Given the description of an element on the screen output the (x, y) to click on. 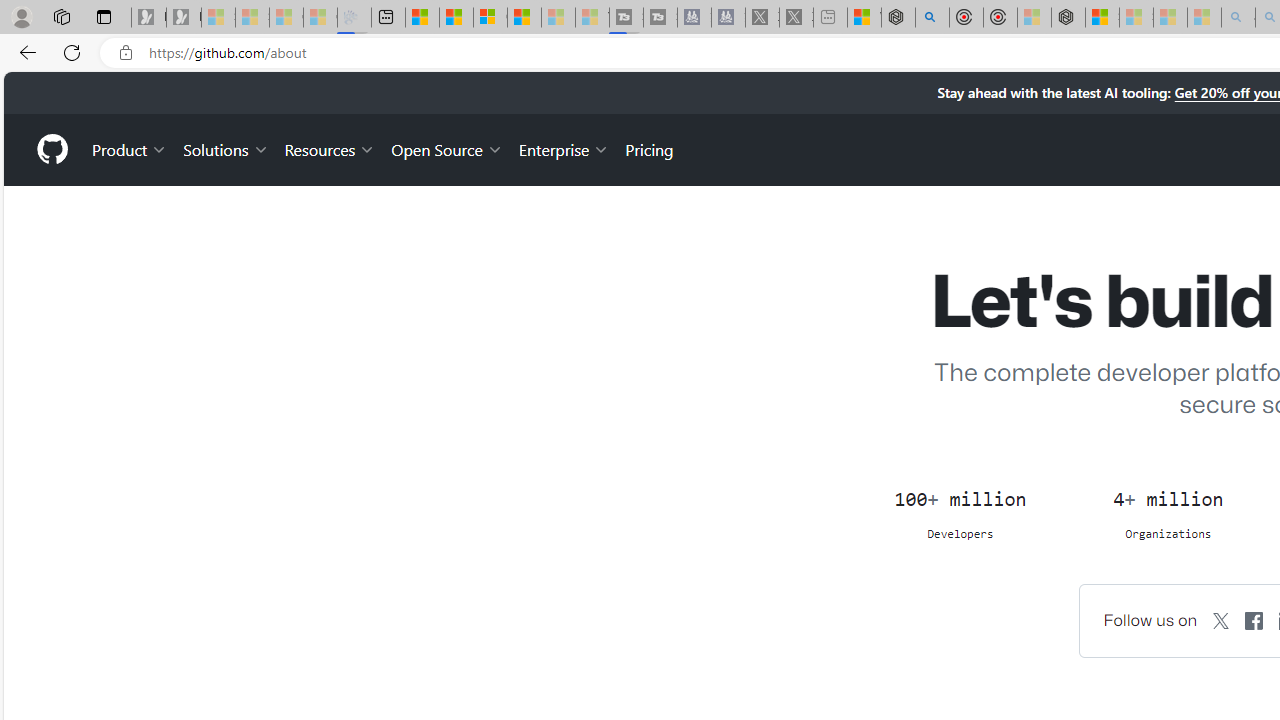
Pricing (649, 148)
Enterprise (563, 148)
GitHub on Facebook (1254, 620)
Product (130, 148)
Resources (330, 148)
Newsletter Sign Up - Sleeping (183, 17)
